Given the description of an element on the screen output the (x, y) to click on. 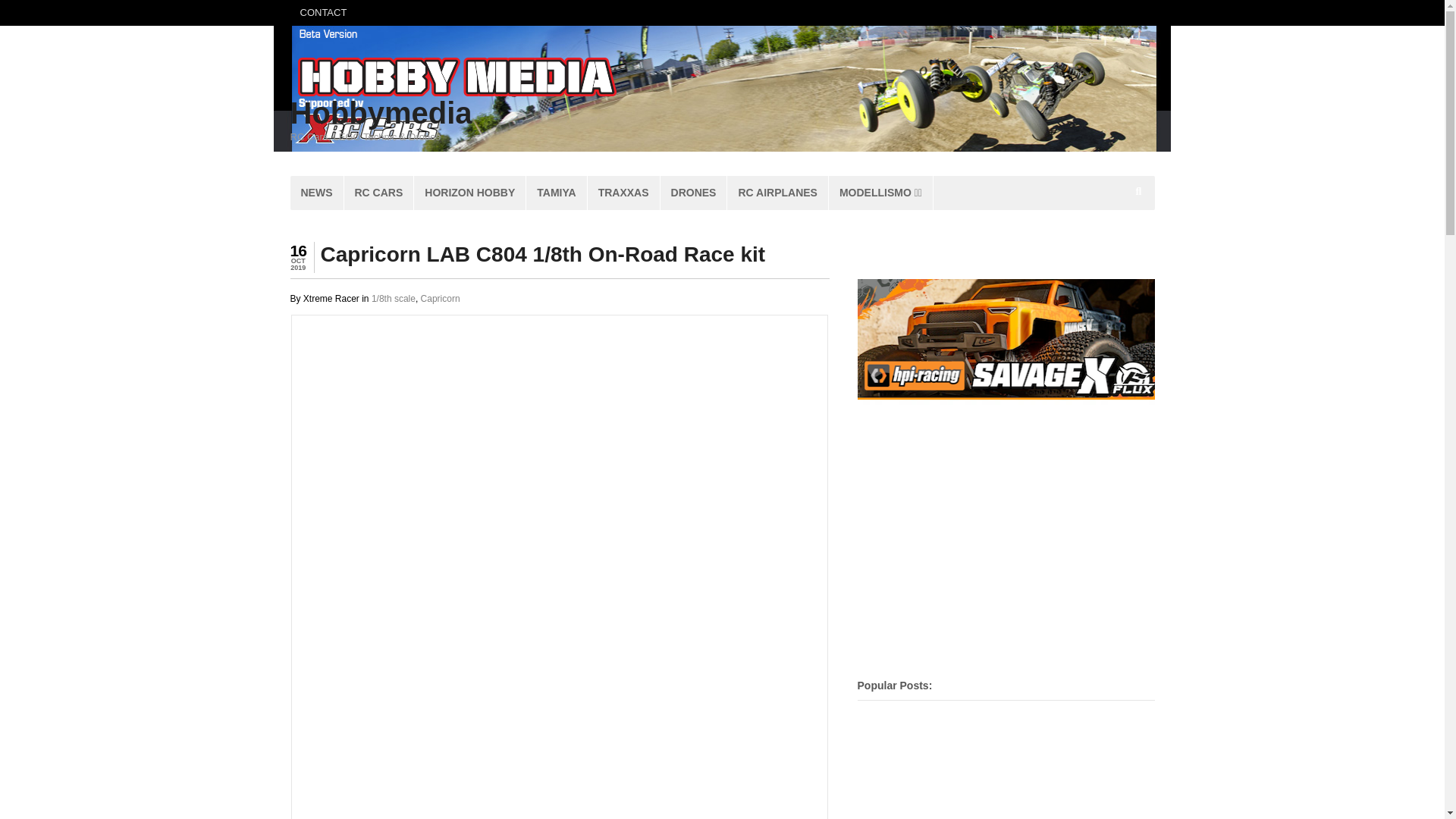
TRAXXAS (623, 192)
HORIZON HOBBY (469, 192)
Search (1139, 229)
TAMIYA (555, 192)
RC AIRPLANES (777, 192)
Capricorn (440, 298)
Hobbymedia (380, 112)
NEWS (315, 192)
RC CARS (378, 192)
DRONES (693, 192)
